Given the description of an element on the screen output the (x, y) to click on. 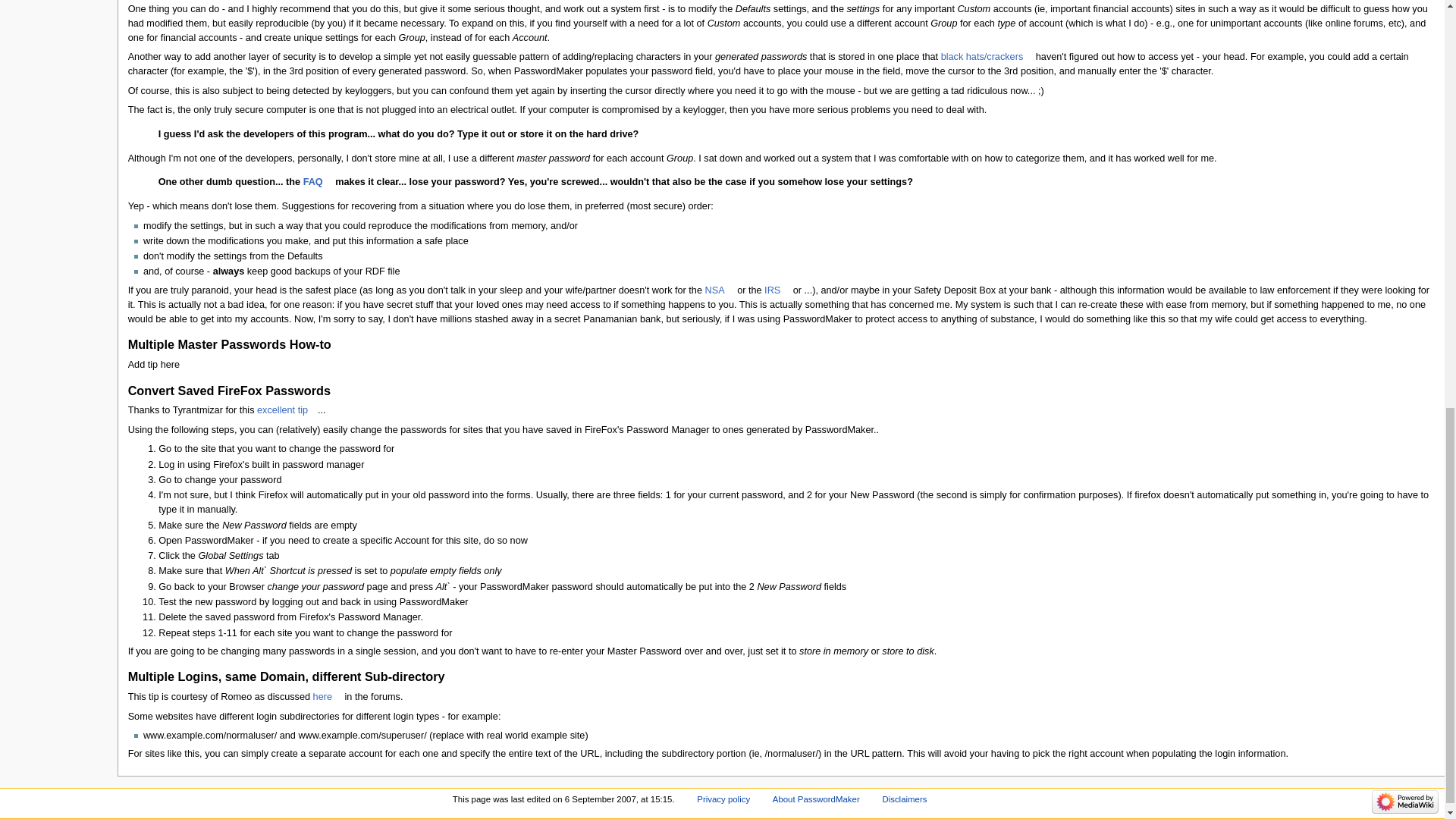
FAQ (317, 181)
excellent tip (287, 409)
IRS (777, 290)
NSA (719, 290)
here (327, 696)
